Given the description of an element on the screen output the (x, y) to click on. 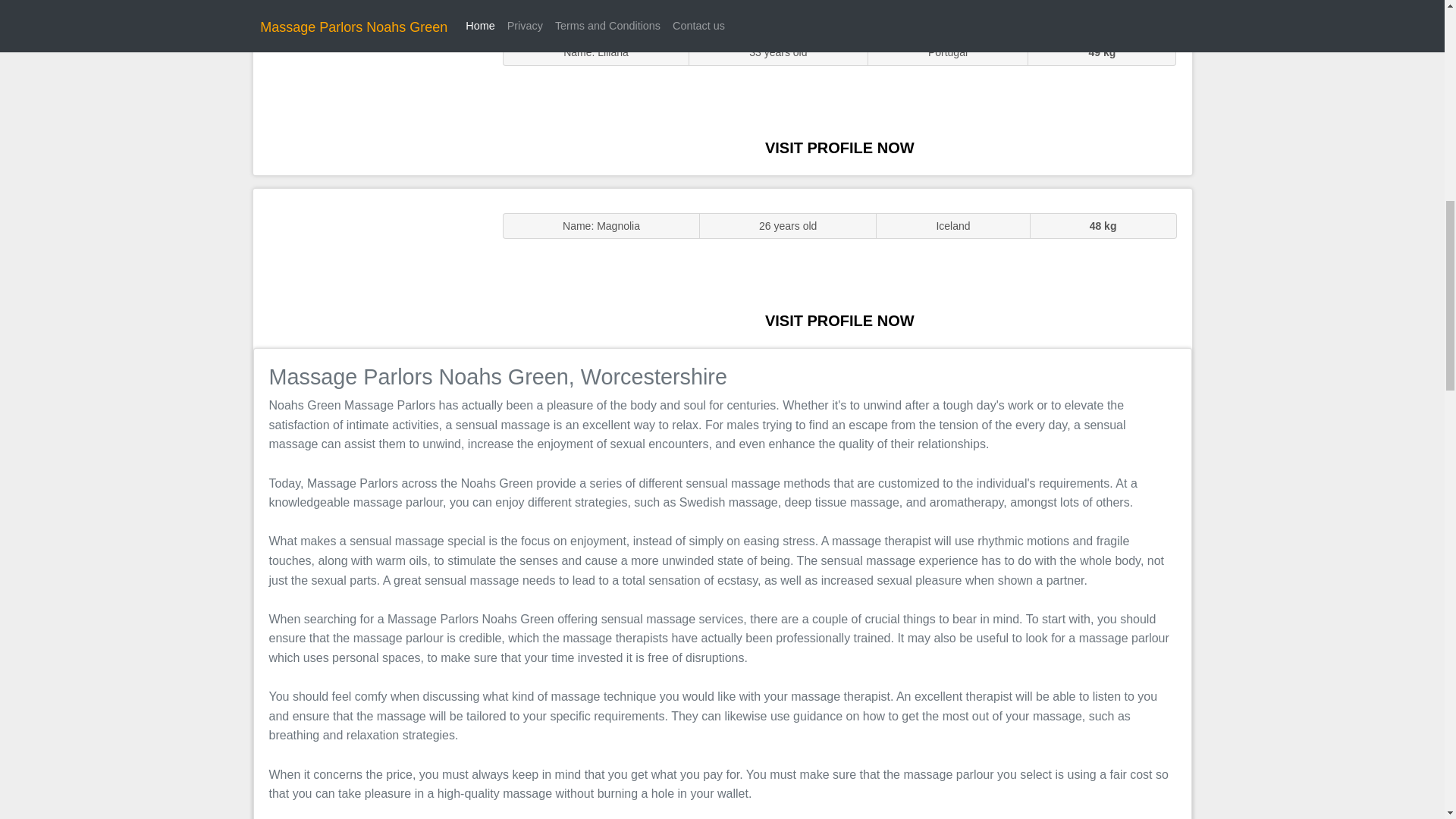
Massage (370, 267)
VISIT PROFILE NOW (839, 147)
Sluts (370, 94)
VISIT PROFILE NOW (839, 320)
